Given the description of an element on the screen output the (x, y) to click on. 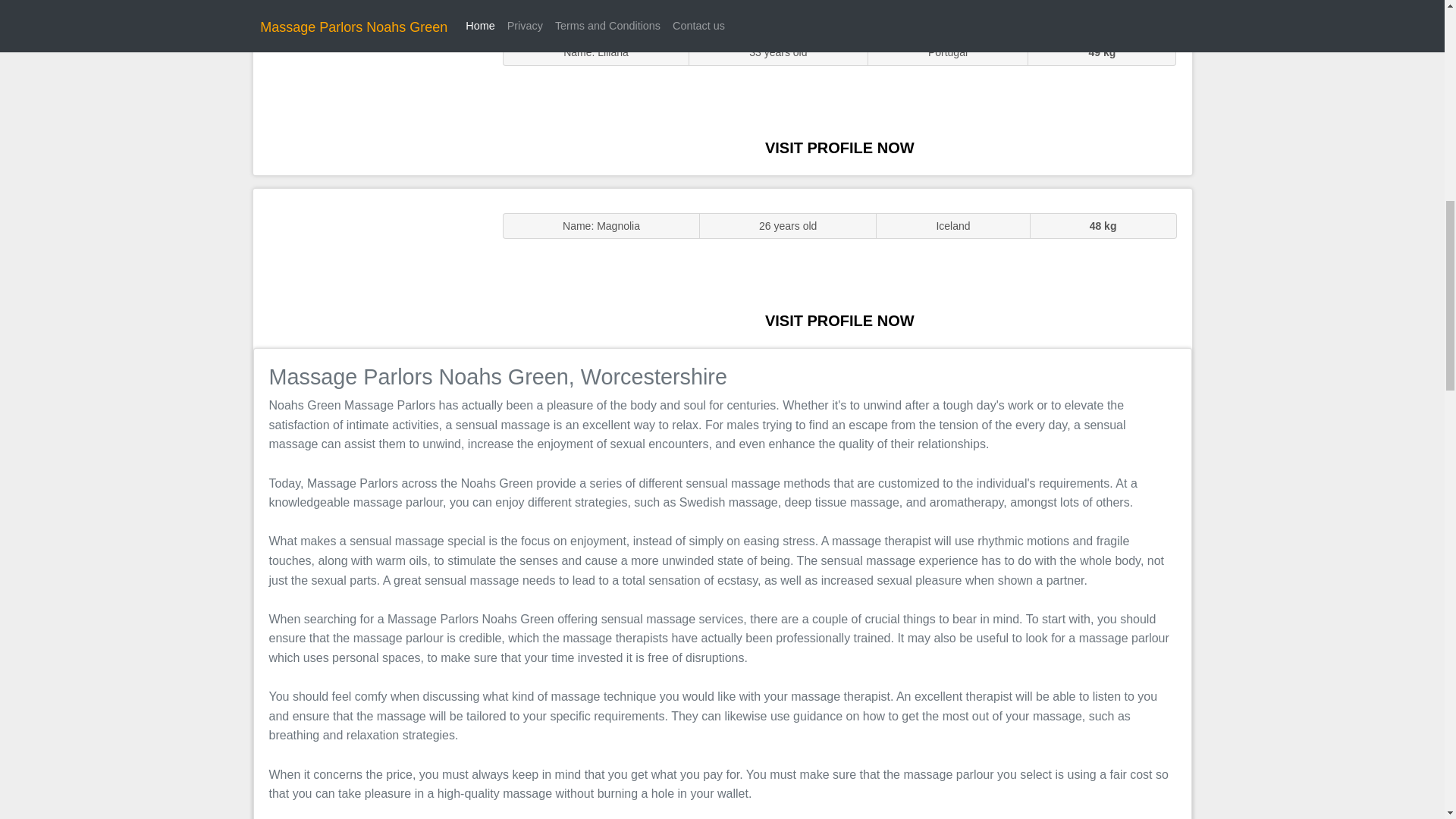
Massage (370, 267)
VISIT PROFILE NOW (839, 147)
Sluts (370, 94)
VISIT PROFILE NOW (839, 320)
